Given the description of an element on the screen output the (x, y) to click on. 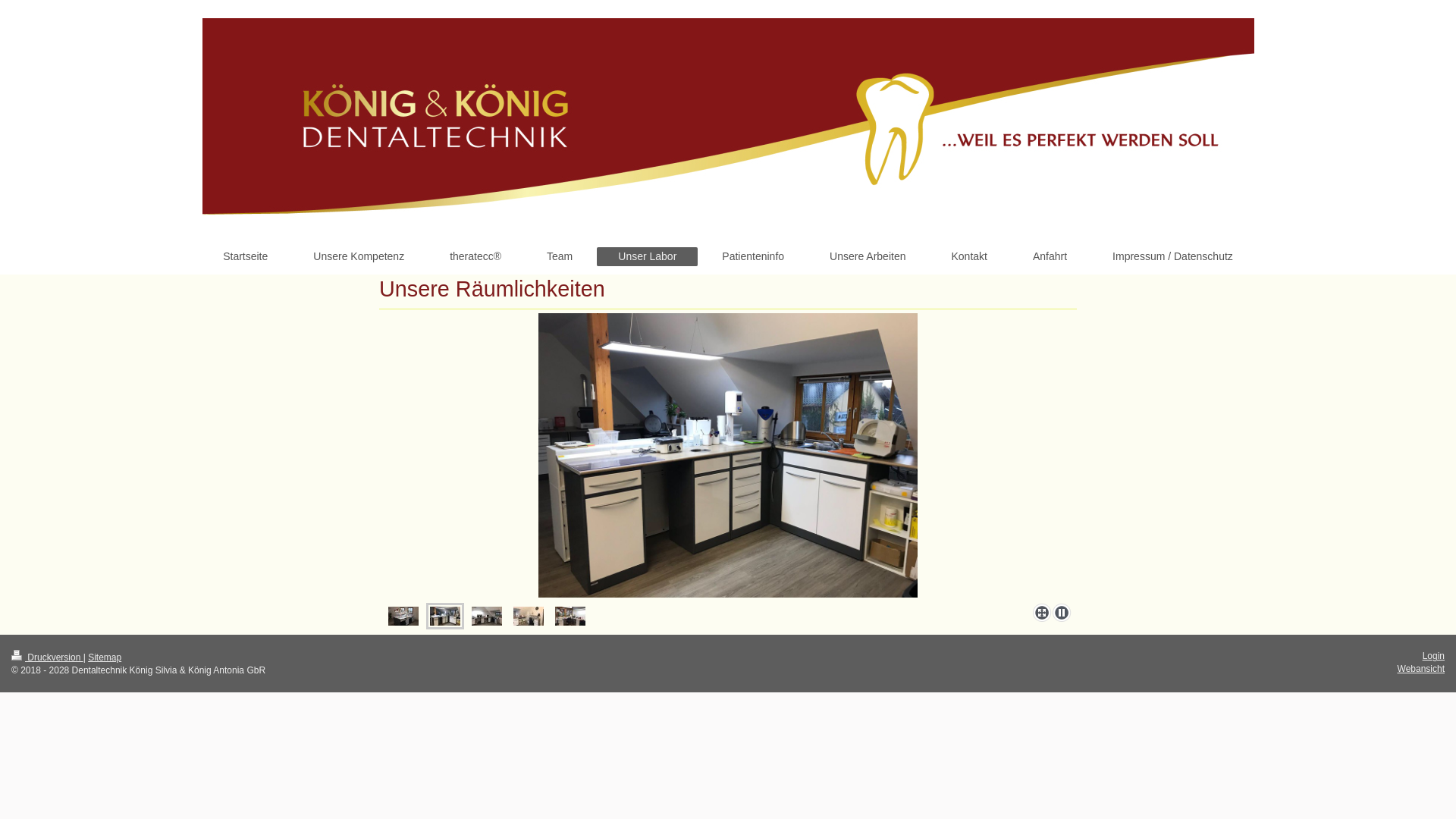
Unsere Arbeiten Element type: text (867, 256)
Impressum / Datenschutz Element type: text (1172, 256)
Anfahrt Element type: text (1049, 256)
Kontakt Element type: text (968, 256)
Startseite Element type: text (244, 256)
Webansicht Element type: text (1420, 668)
Patienteninfo Element type: text (752, 256)
Druckversion Element type: text (47, 657)
Sitemap Element type: text (104, 657)
Unsere Kompetenz Element type: text (358, 256)
Login Element type: text (1433, 655)
Team Element type: text (559, 256)
Unser Labor Element type: text (646, 256)
